Given the description of an element on the screen output the (x, y) to click on. 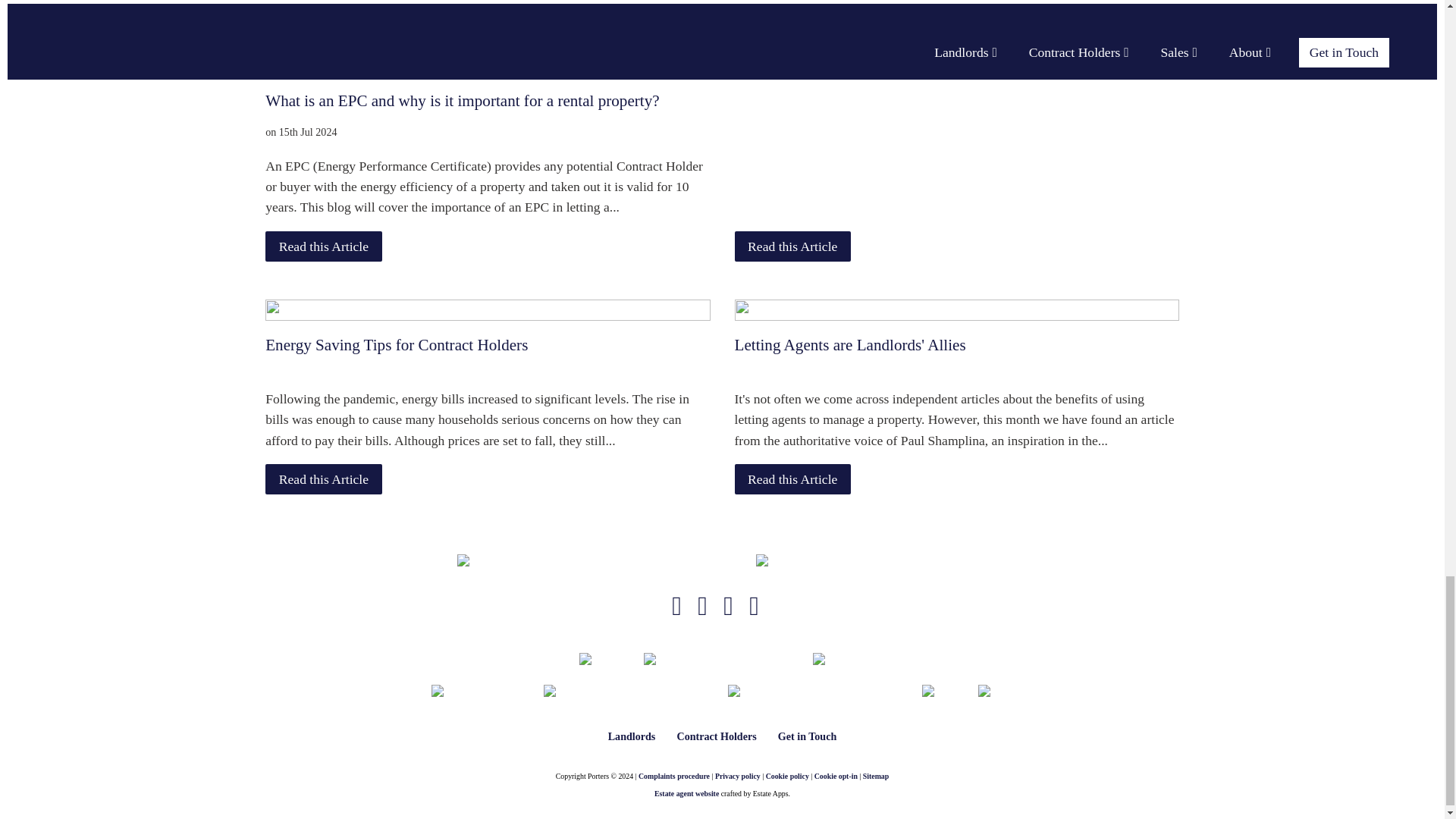
Estate agent website crafted by Estate Apps (686, 794)
